Given the description of an element on the screen output the (x, y) to click on. 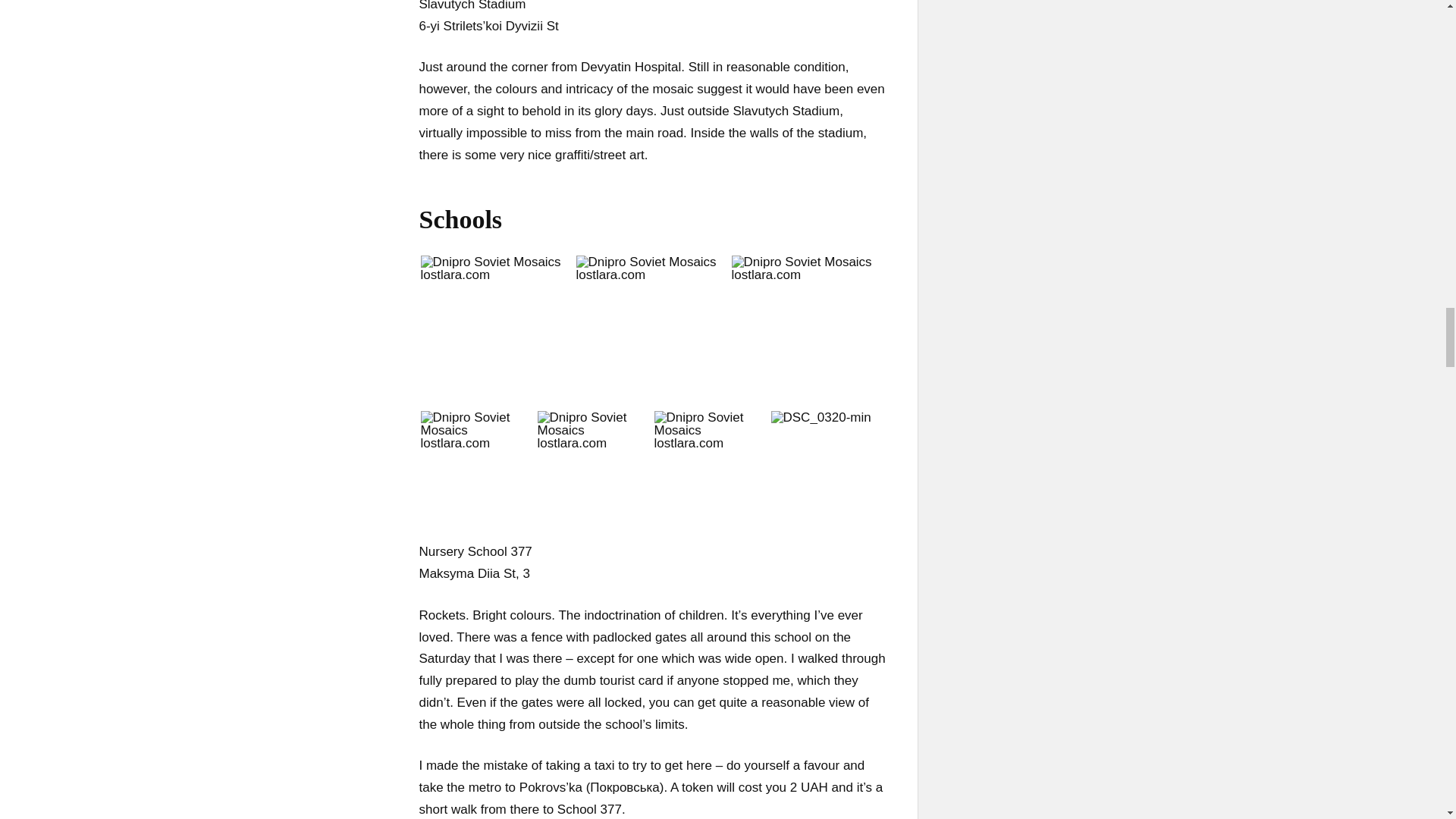
Dnipro Soviet Mosaics lostlara.com (806, 268)
Dnipro Soviet Mosaics lostlara.com (710, 430)
Dnipro Soviet Mosaics lostlara.com (593, 430)
Dnipro Soviet Mosaics lostlara.com (652, 268)
Dnipro Soviet Mosaics lostlara.com (477, 430)
Dnipro Soviet Mosaics lostlara.com (496, 268)
